Given the description of an element on the screen output the (x, y) to click on. 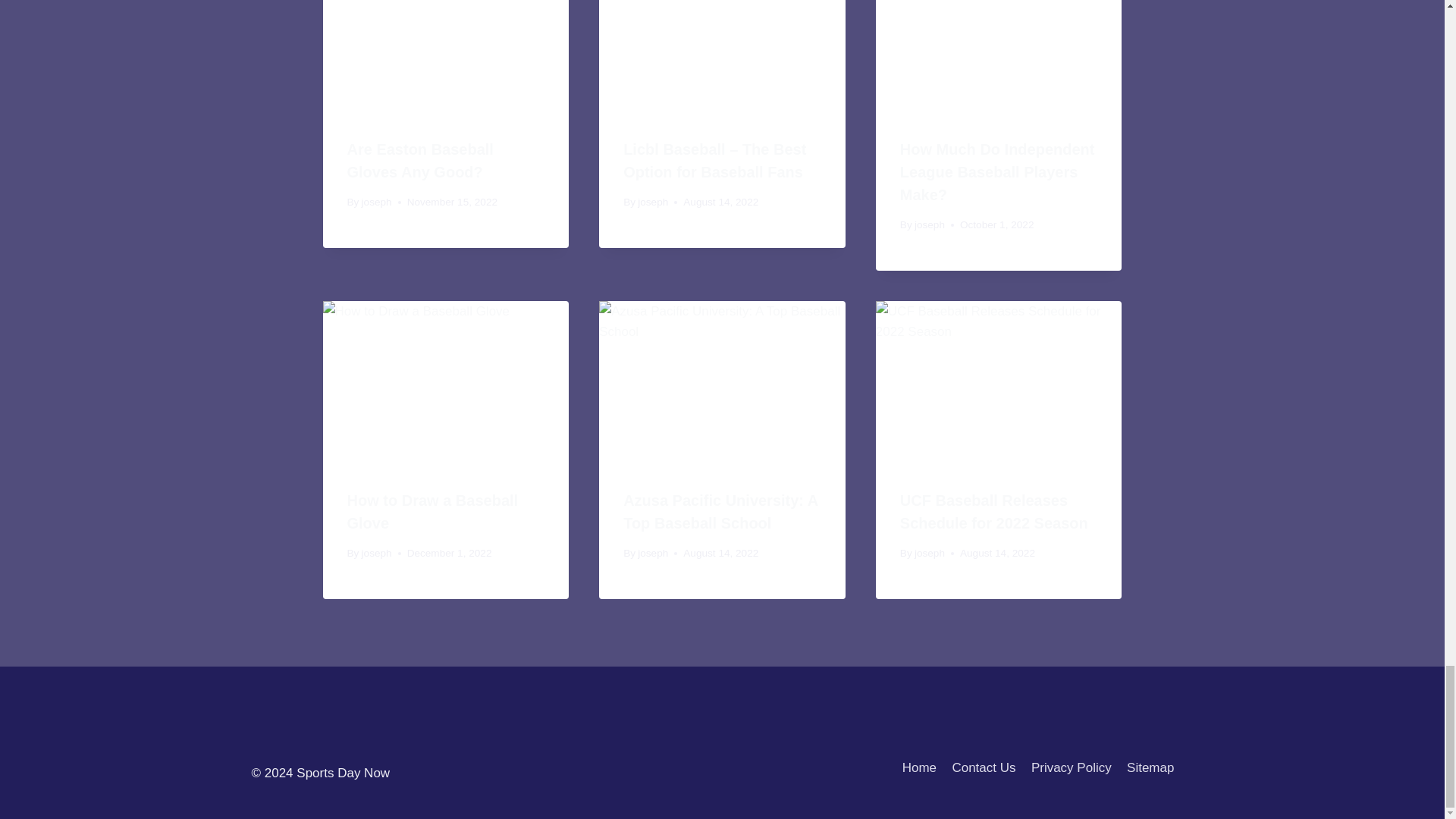
joseph (376, 202)
How Much Do Independent League Baseball Players Make? (996, 171)
joseph (652, 202)
joseph (929, 224)
Are Easton Baseball Gloves Any Good? (420, 160)
